Given the description of an element on the screen output the (x, y) to click on. 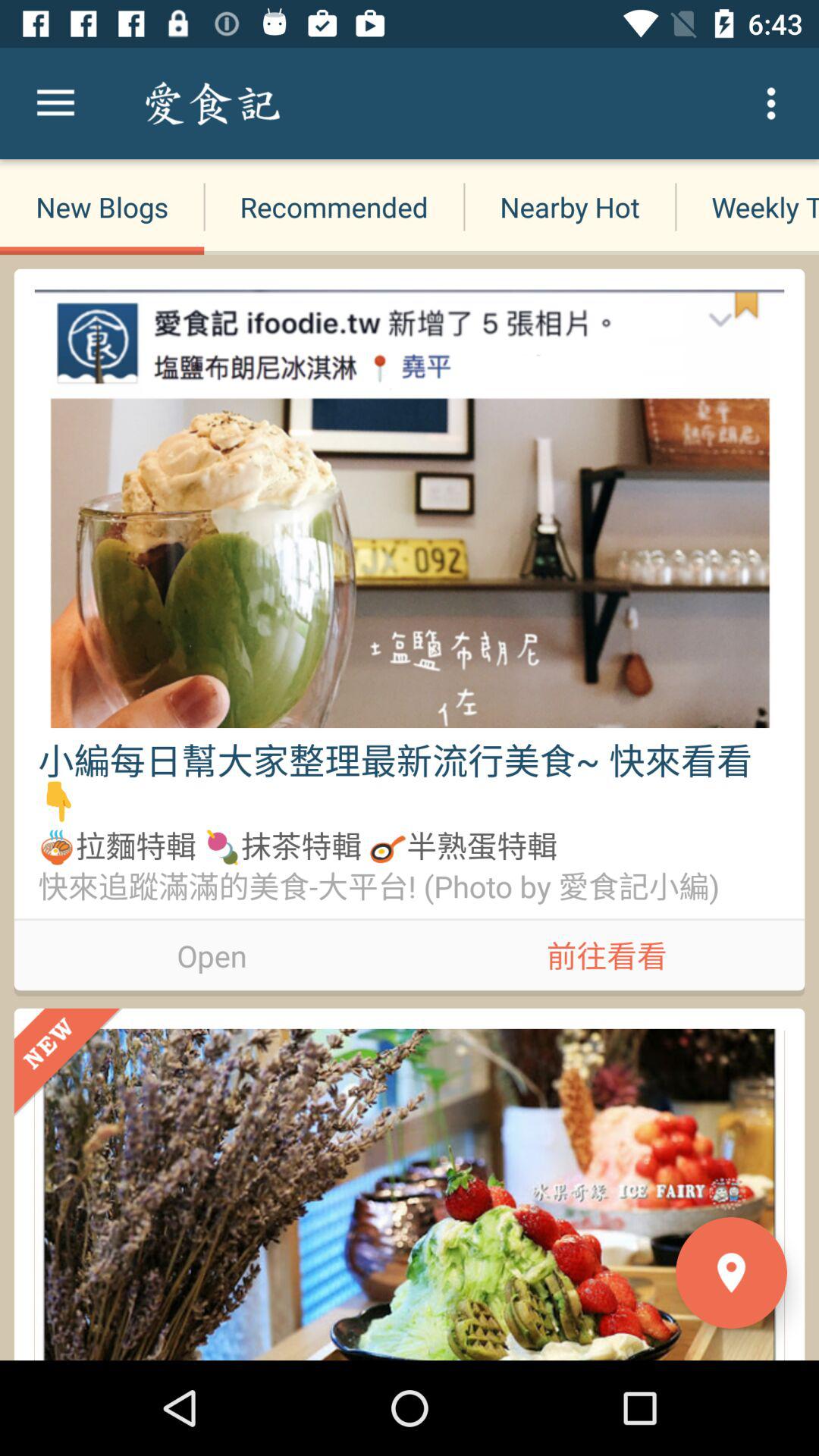
turn off the weekly tops (747, 206)
